Given the description of an element on the screen output the (x, y) to click on. 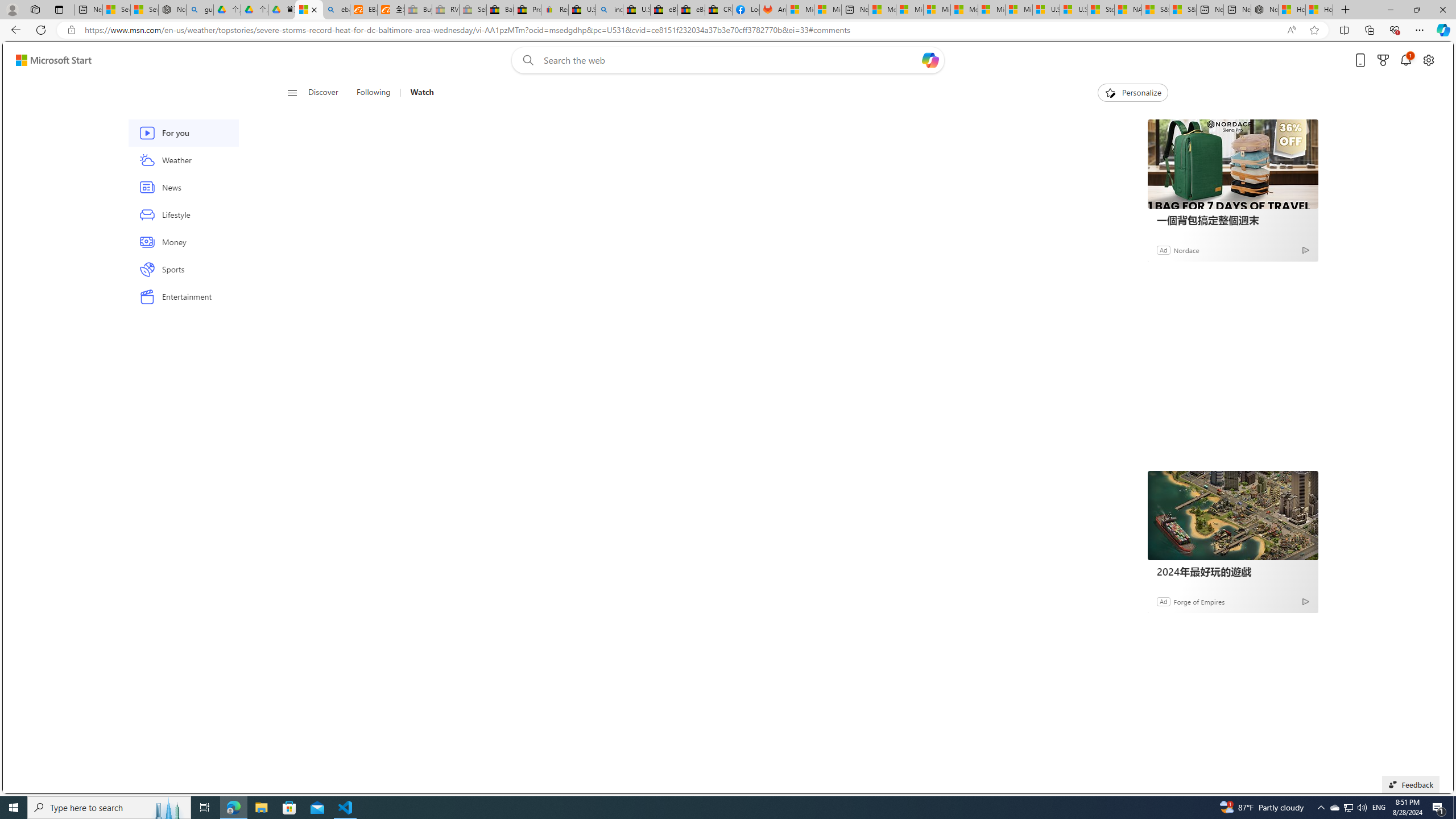
Personalize (1132, 92)
Open navigation menu (292, 92)
guge yunpan - Search (200, 9)
Log into Facebook (746, 9)
